Given the description of an element on the screen output the (x, y) to click on. 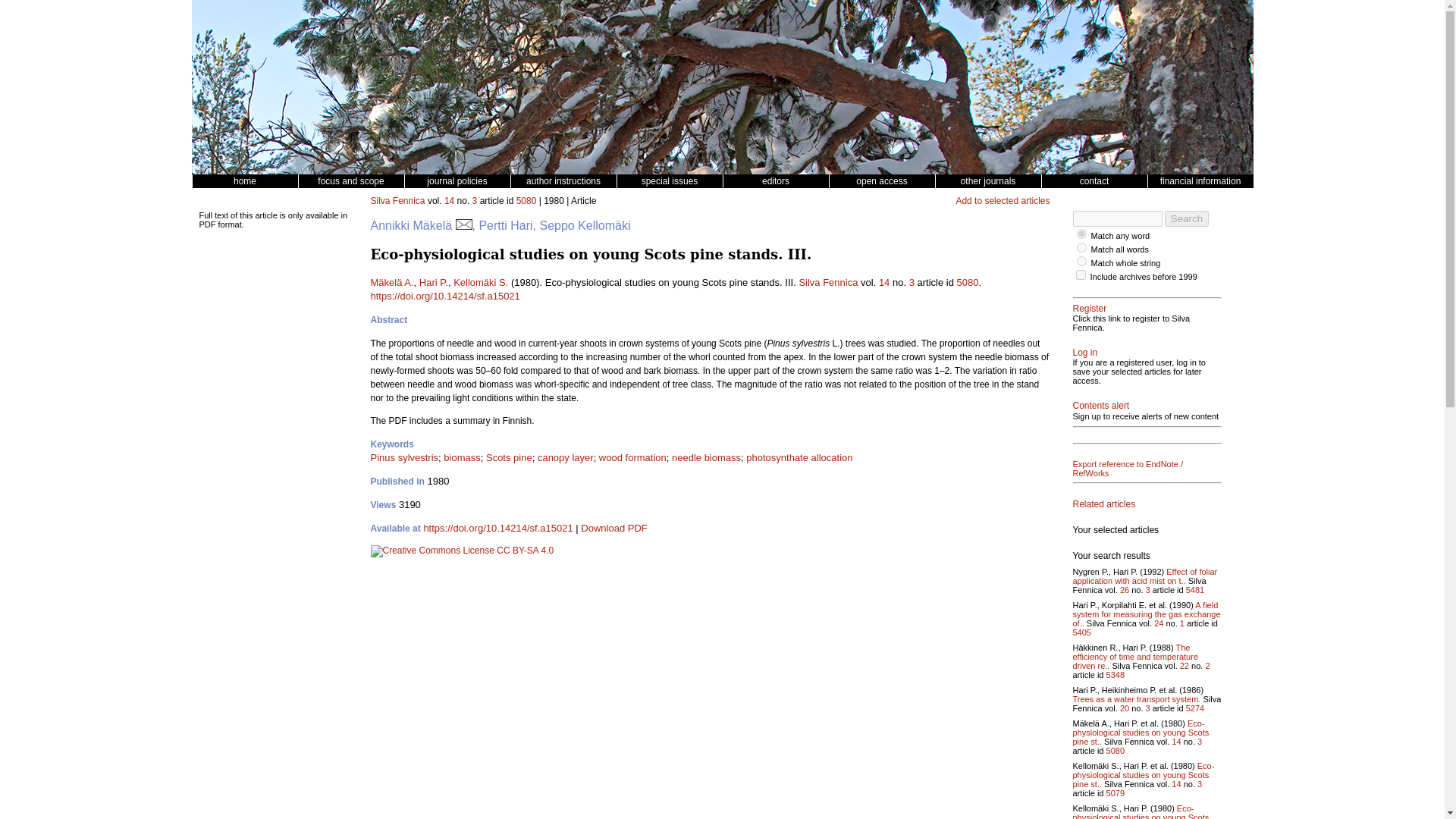
14 (449, 200)
editors (775, 181)
5080 (526, 200)
author instructions (562, 181)
all (1081, 261)
or (1081, 234)
Search (1186, 218)
Corresponding author (463, 225)
home (243, 181)
